Given the description of an element on the screen output the (x, y) to click on. 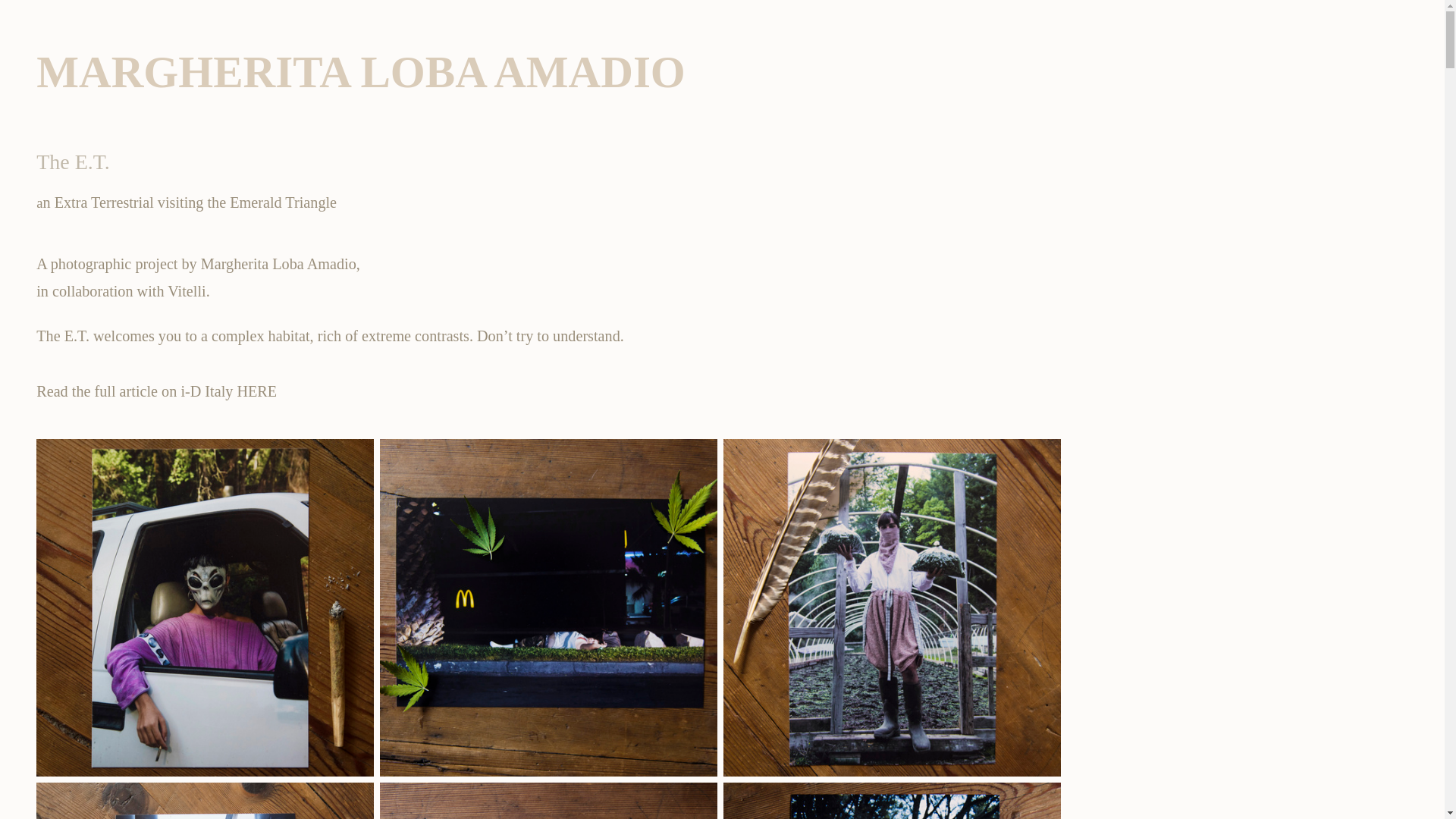
MARGHERITA LOBA AMADIO (360, 73)
Vitelli (186, 291)
HERE (255, 392)
